Given the description of an element on the screen output the (x, y) to click on. 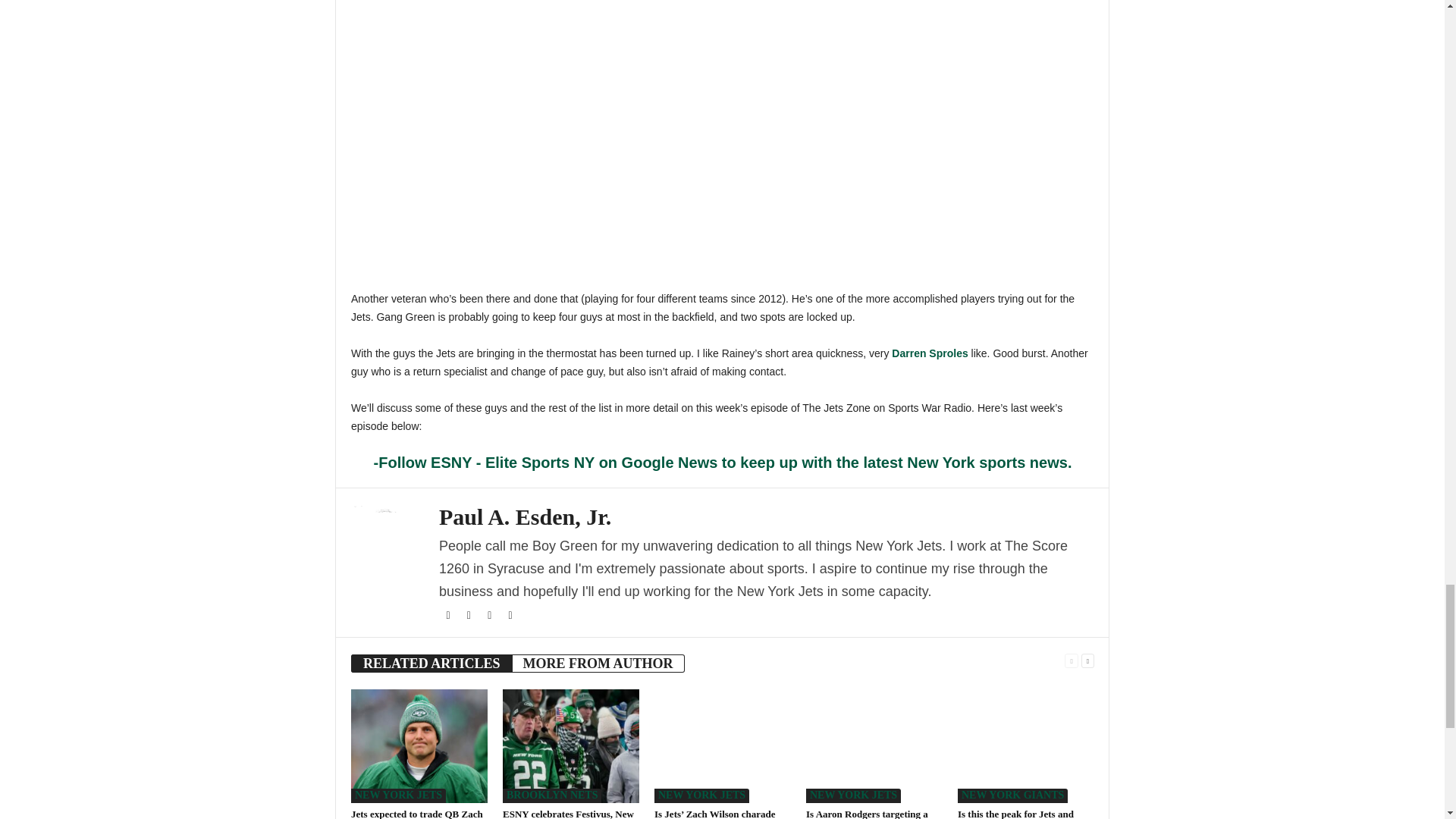
Facebook (449, 615)
Jets expected to trade QB Zach Wilson this offseason (418, 746)
Twitter (470, 615)
Linkedin (509, 615)
Instagram (490, 615)
